Given the description of an element on the screen output the (x, y) to click on. 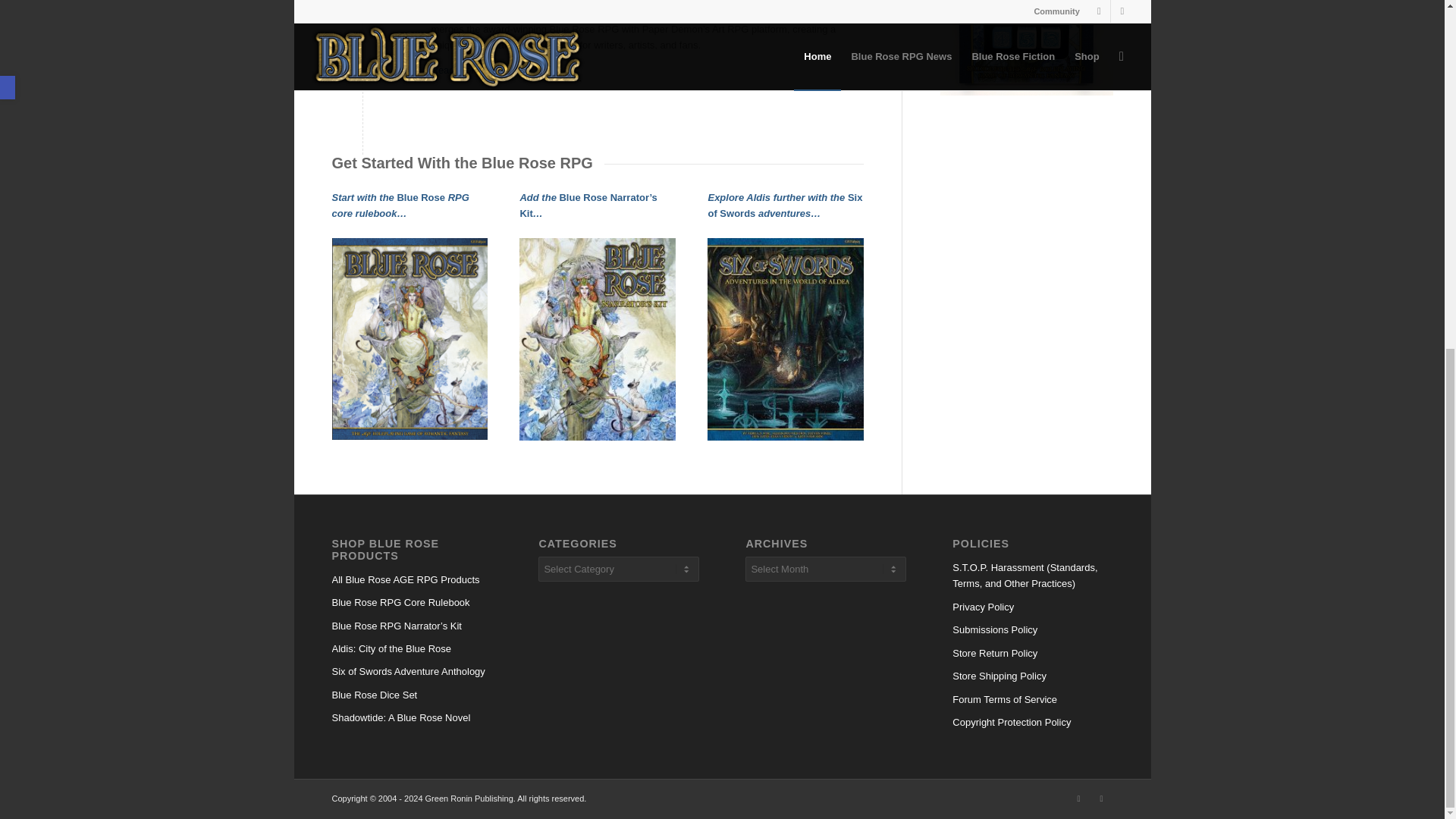
Blue Rose RPG Core Rulebook (411, 602)
Blue Rose Dice Set (411, 694)
Shadowtide: A Blue Rose Novel (411, 717)
Six of Swords Adventure Anthology (411, 671)
All Blue Rose AGE RPG Products (411, 579)
Aldis: City of the Blue Rose (411, 649)
